Given the description of an element on the screen output the (x, y) to click on. 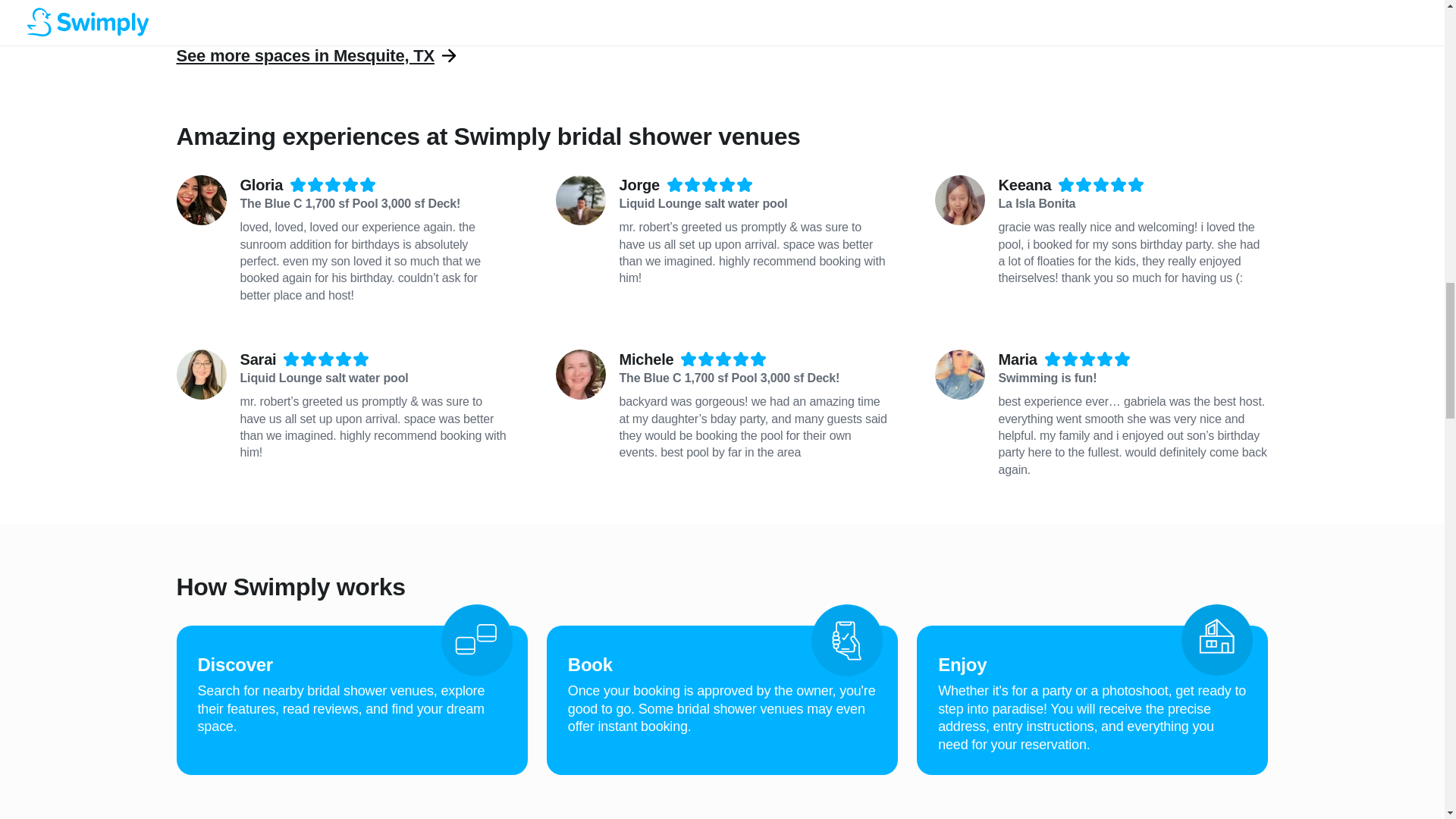
5 Stars (724, 360)
5 Stars (1088, 360)
read more (617, 7)
See more spaces in Mesquite, TX (304, 55)
5 Stars (326, 360)
read more (1103, 7)
5 Stars (1101, 185)
5 Stars (332, 185)
5 Stars (709, 185)
